Given the description of an element on the screen output the (x, y) to click on. 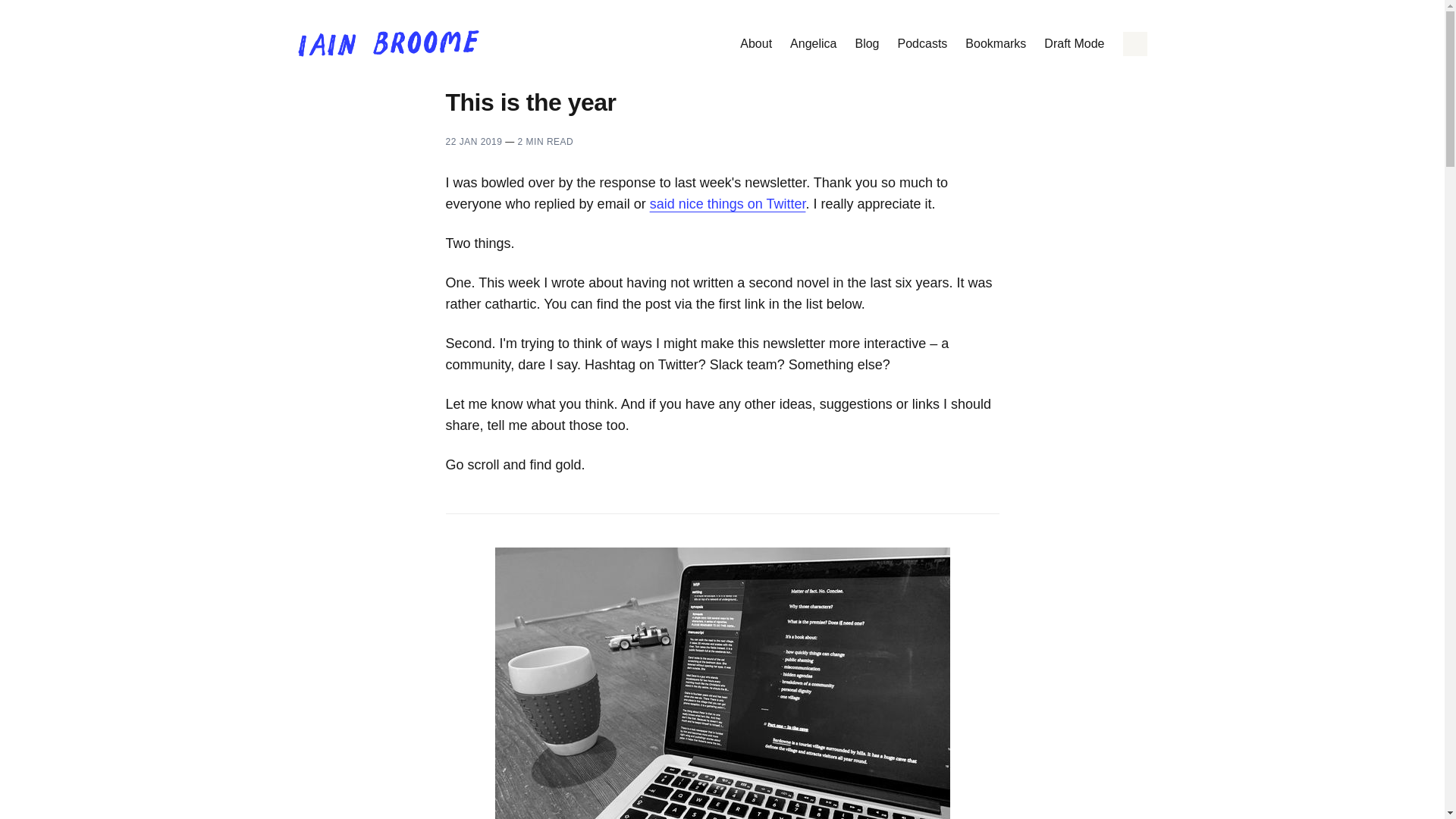
Podcasts (922, 44)
Angelica (812, 44)
About (755, 44)
Blog (866, 44)
Draft Mode (1073, 44)
Search (1134, 43)
Bookmarks (995, 44)
said nice things on Twitter (727, 203)
